Given the description of an element on the screen output the (x, y) to click on. 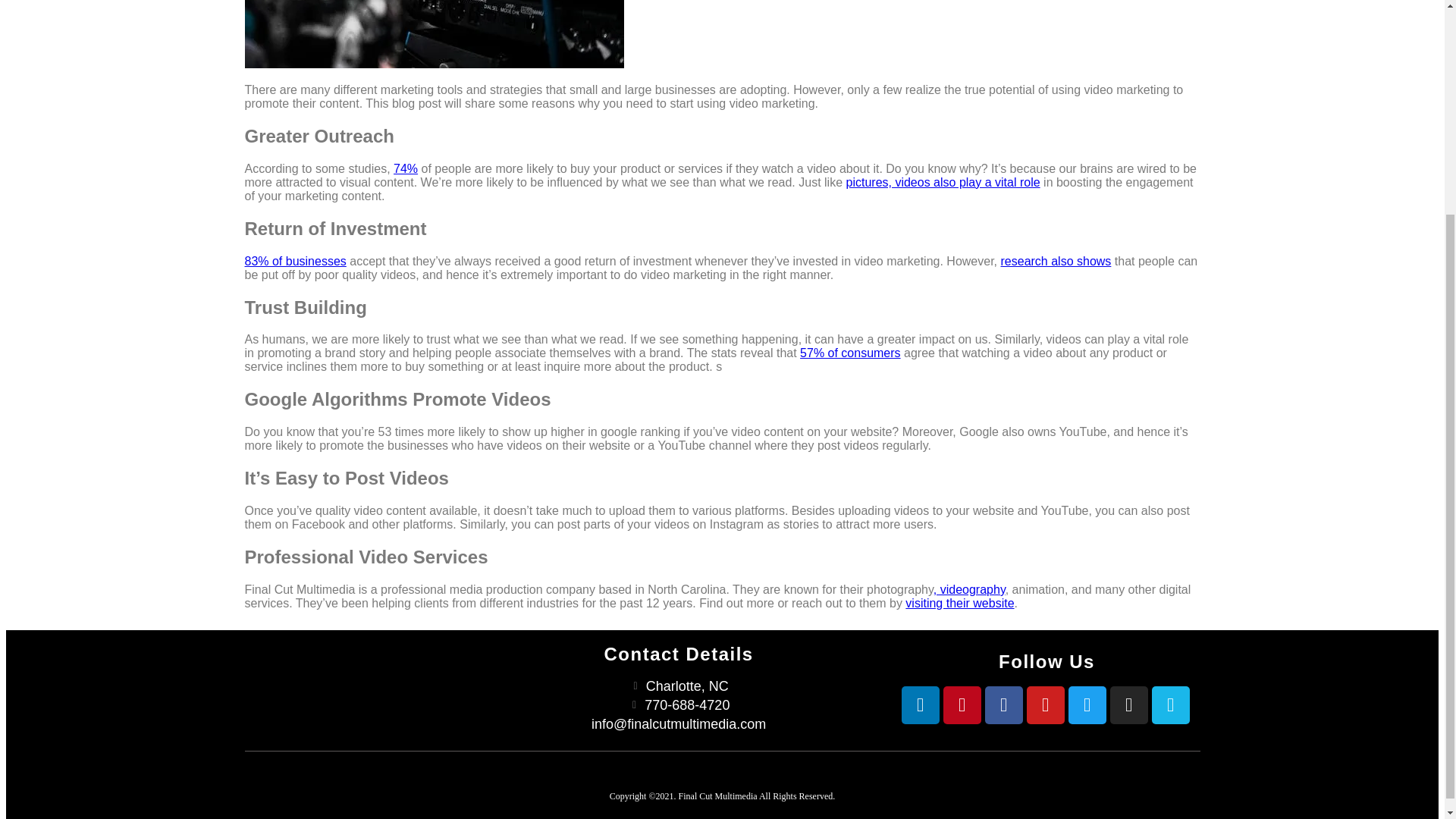
, videography (969, 589)
pictures, videos also play a vital role (943, 182)
research also shows (1056, 260)
visiting their website (959, 603)
